Given the description of an element on the screen output the (x, y) to click on. 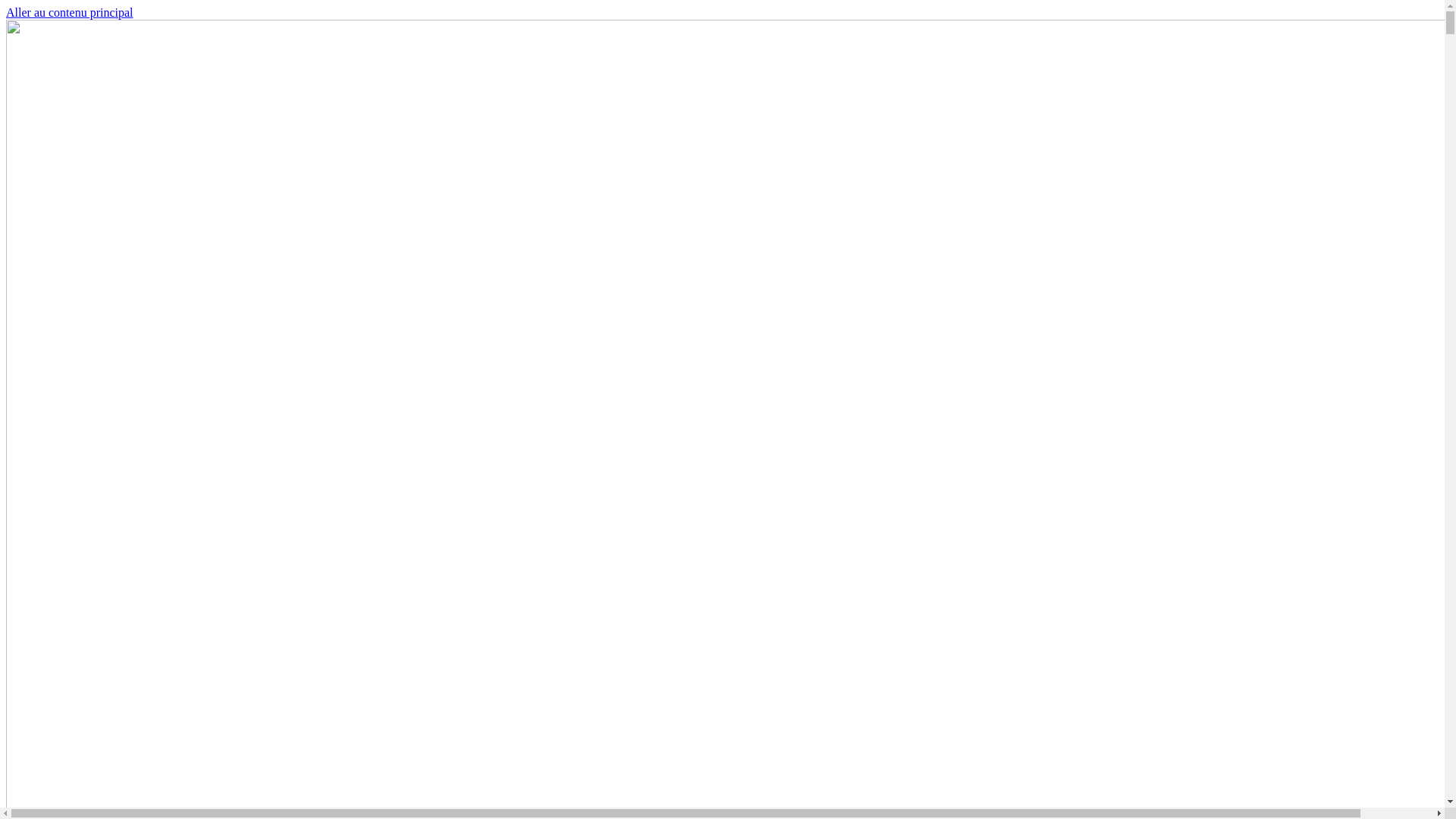
Aller au contenu principal Element type: text (69, 12)
